Given the description of an element on the screen output the (x, y) to click on. 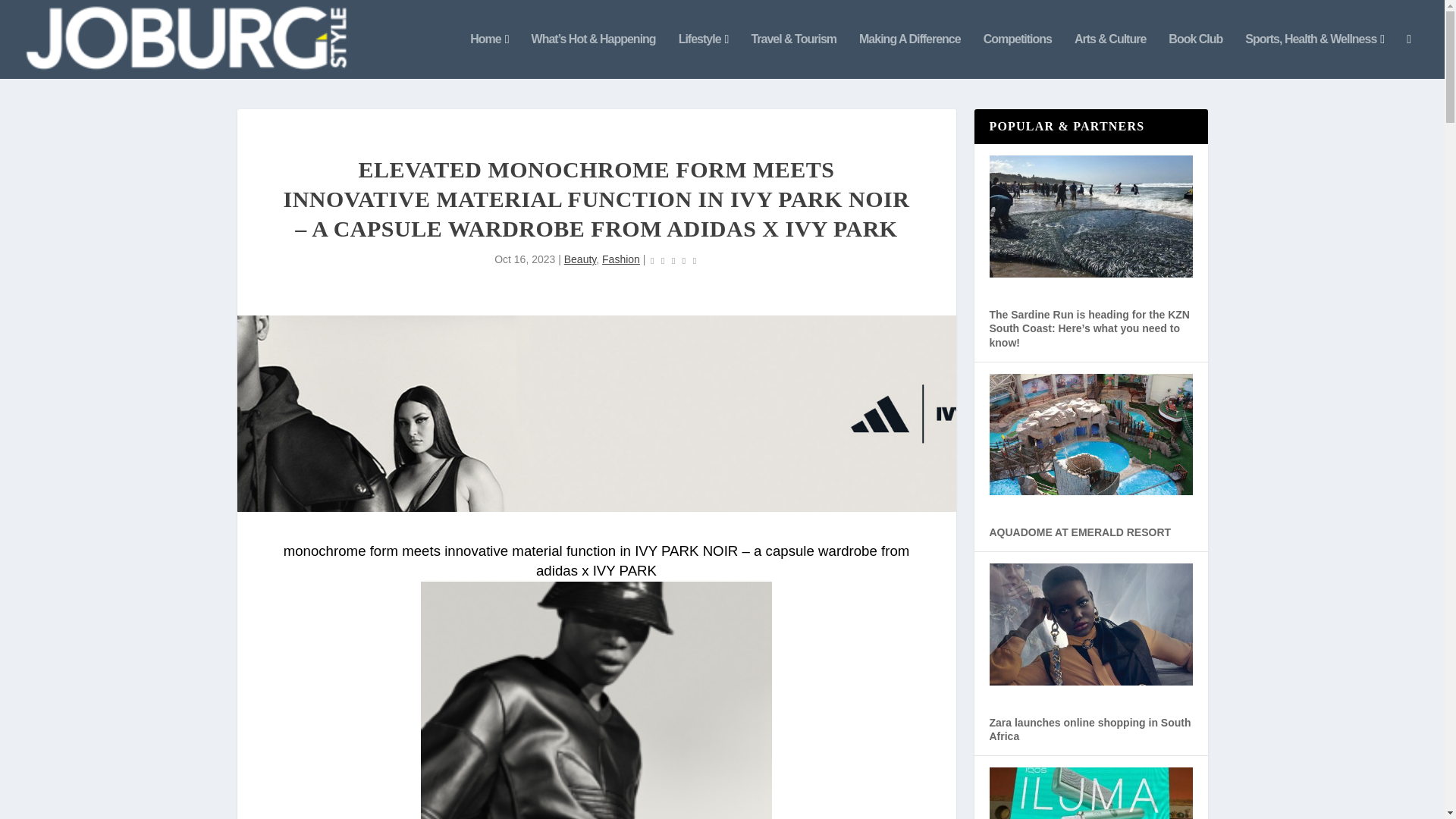
Book Club (1196, 55)
Rating: 0.00 (672, 260)
Beauty (580, 259)
Lifestyle (703, 55)
Fashion (621, 259)
Competitions (1017, 55)
Making A Difference (909, 55)
